Given the description of an element on the screen output the (x, y) to click on. 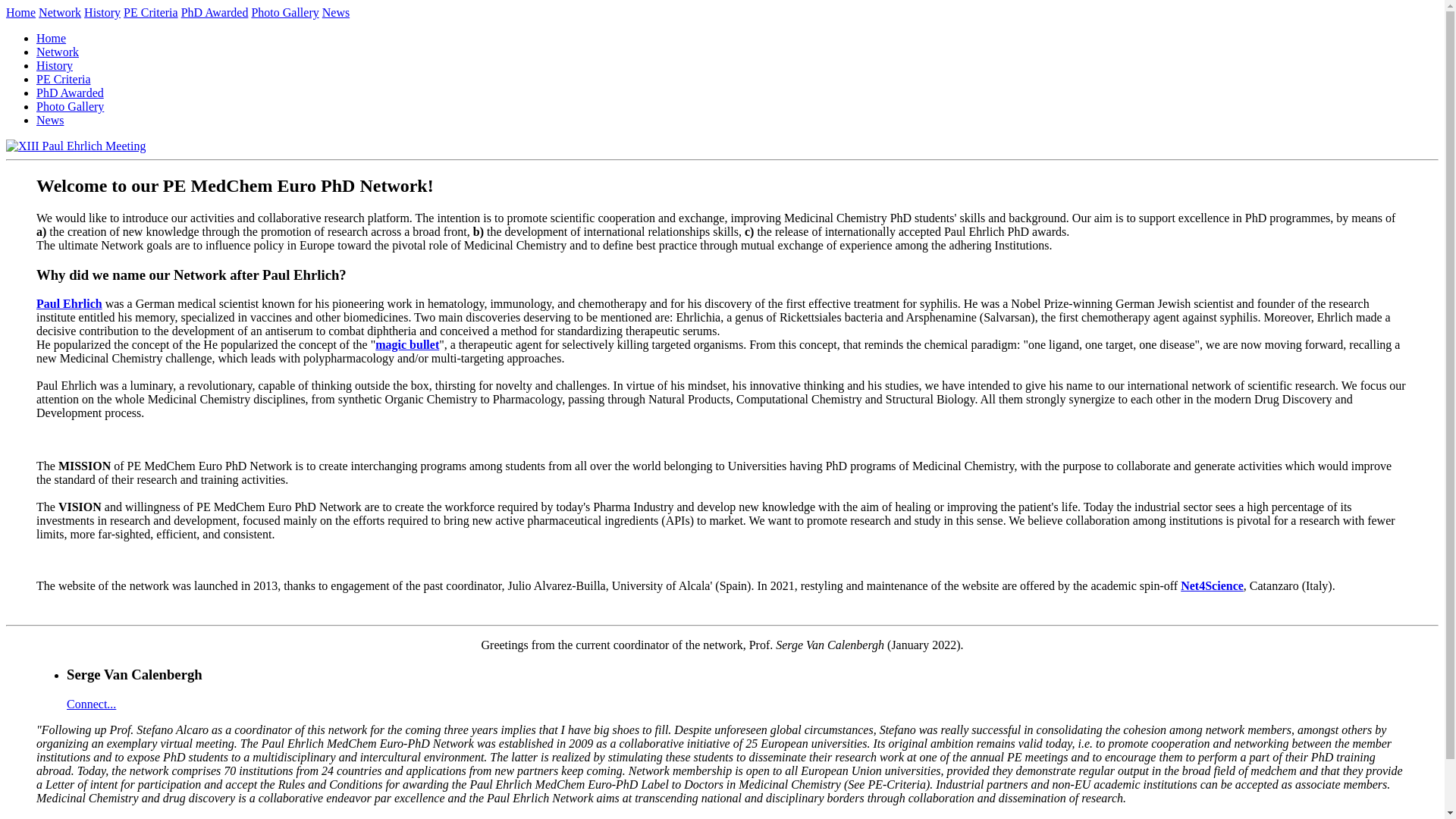
Photo Gallery (69, 106)
Photo Gallery (284, 11)
History (54, 65)
PE Criteria (150, 11)
magic bullet (407, 344)
Paul Ehrlich (68, 303)
News (50, 119)
Network (60, 11)
Home (19, 11)
PE Criteria (63, 78)
